Given the description of an element on the screen output the (x, y) to click on. 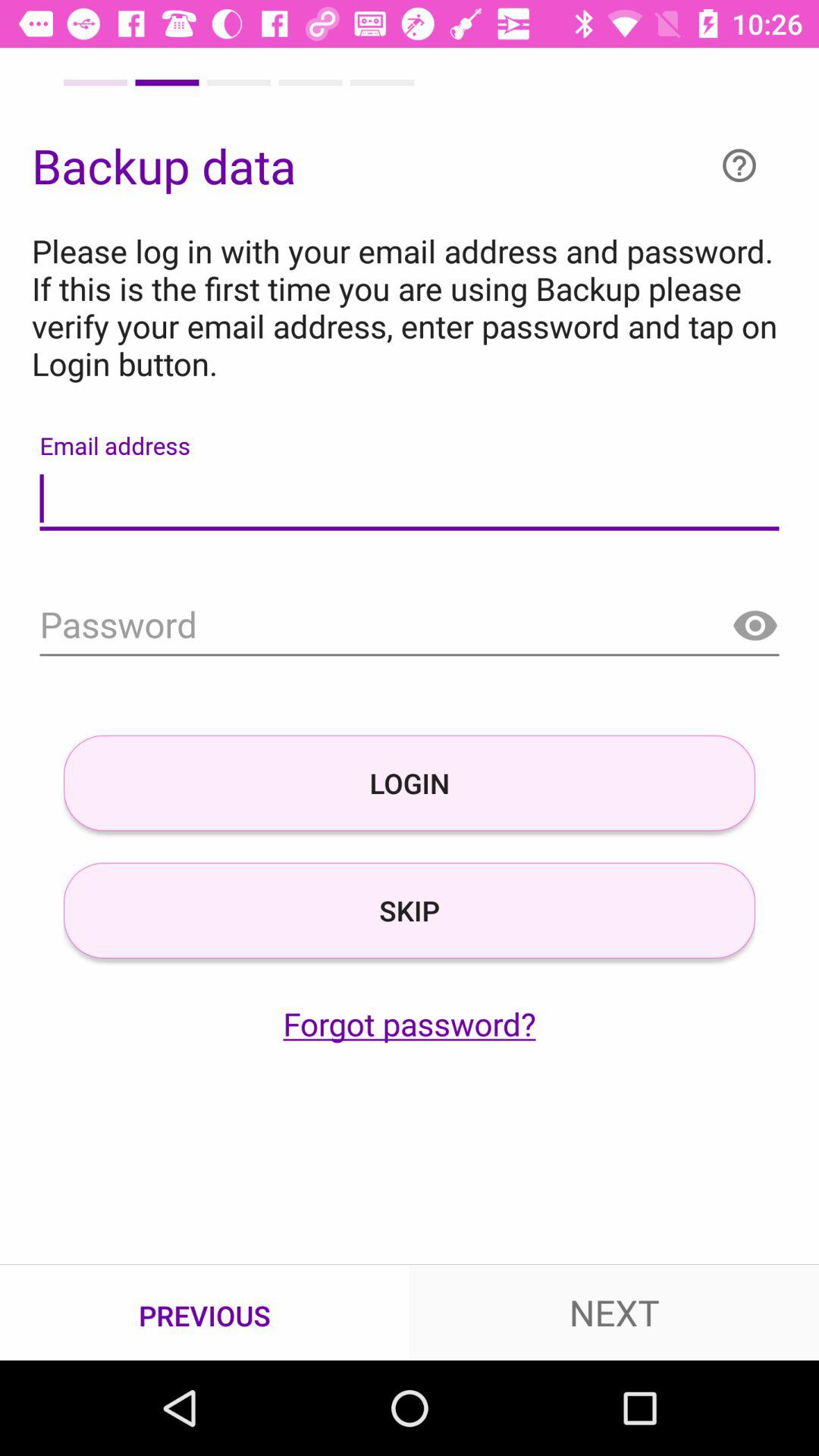
open help (739, 165)
